Given the description of an element on the screen output the (x, y) to click on. 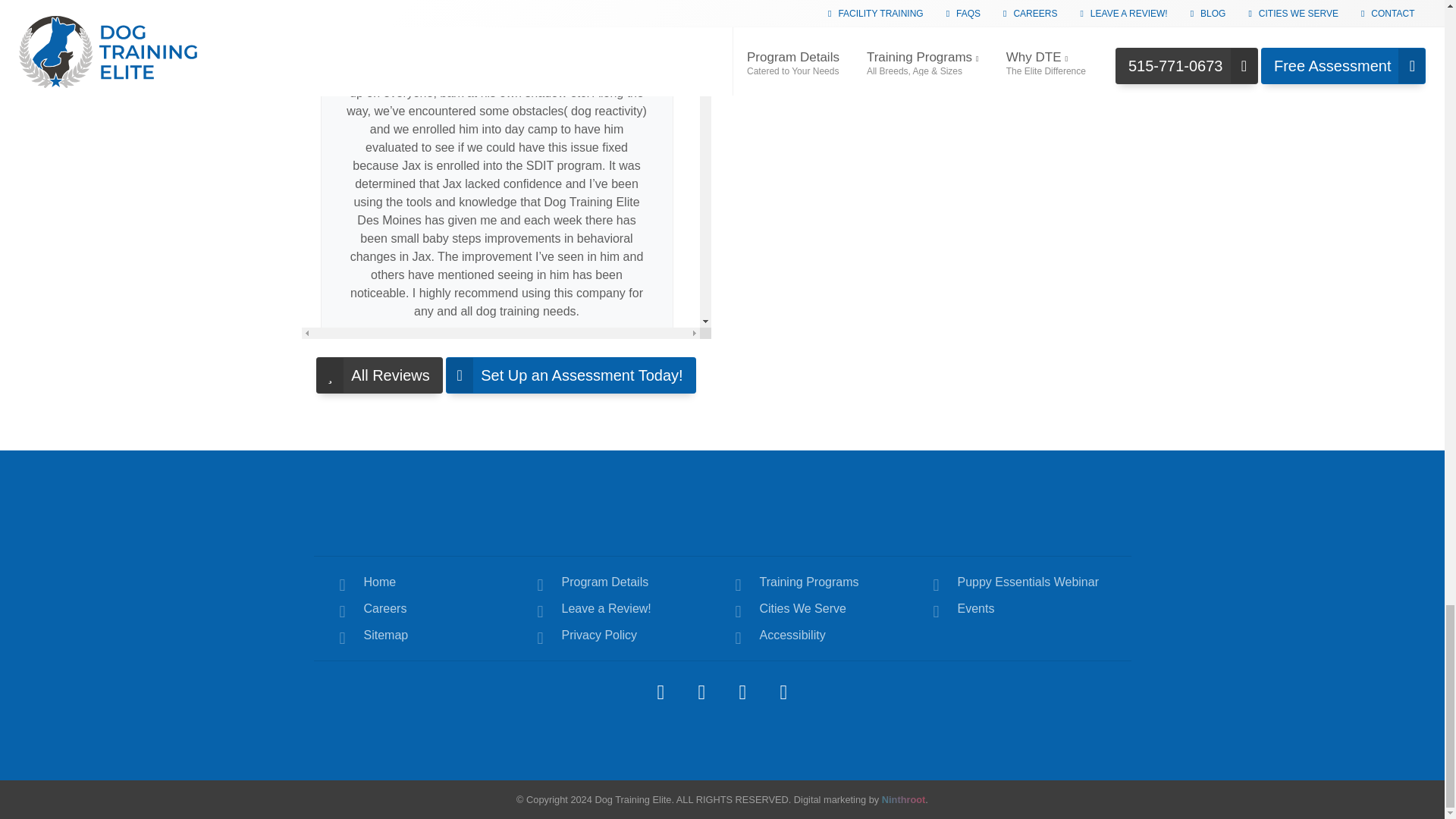
Dog Training Elite Des Moines Reviews (378, 375)
